Given the description of an element on the screen output the (x, y) to click on. 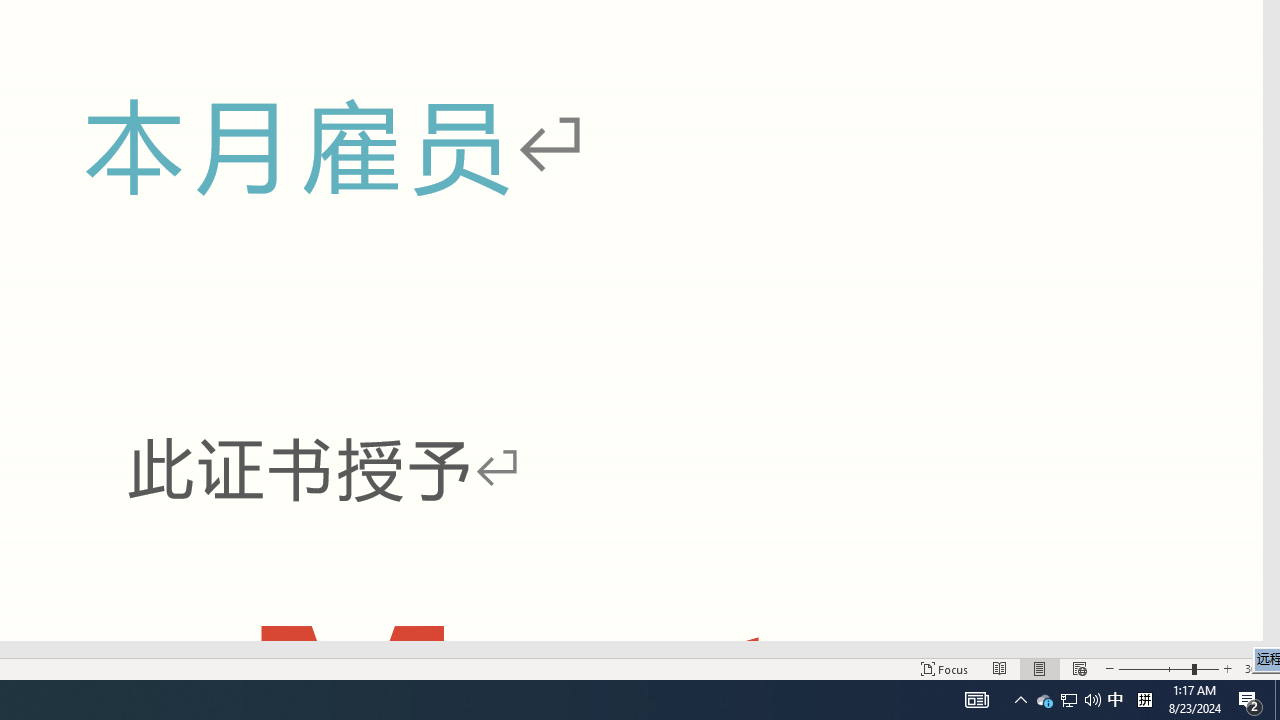
Zoom 308% (1258, 668)
